Given the description of an element on the screen output the (x, y) to click on. 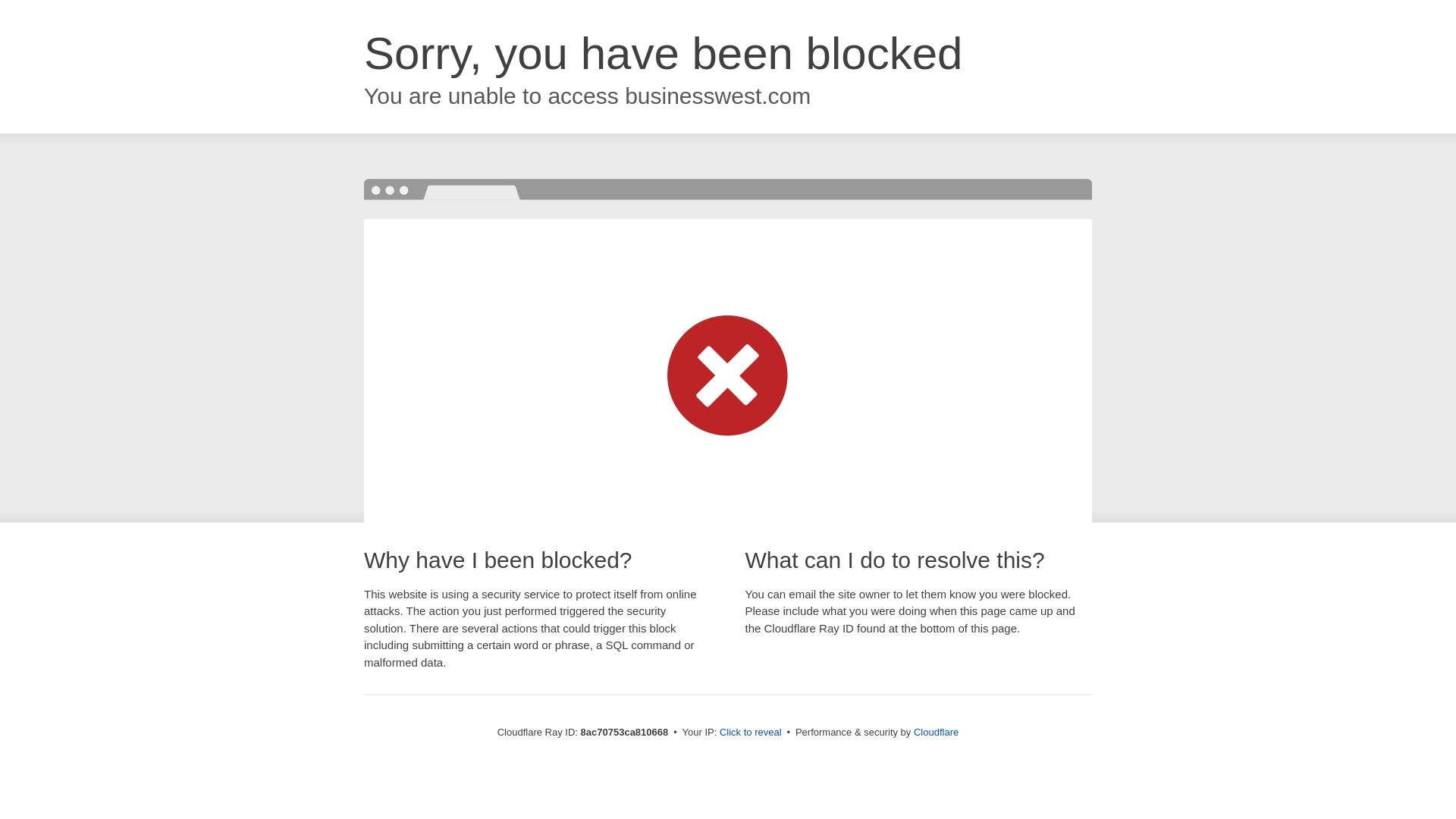
Click to reveal (750, 732)
Cloudflare (936, 731)
